Given the description of an element on the screen output the (x, y) to click on. 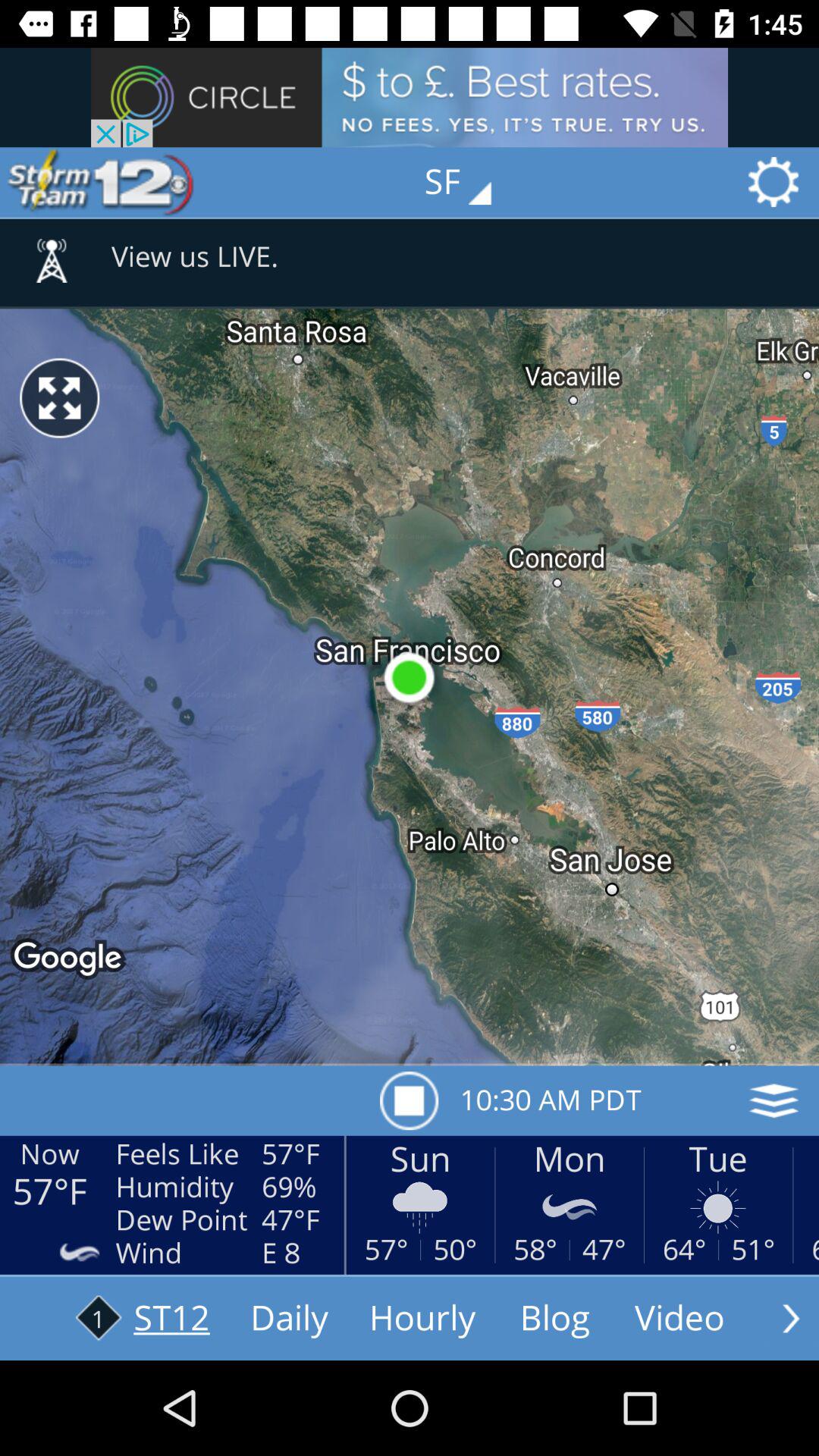
select the text which is right to the text hourly (555, 1318)
select the text which is to the first left of settings symbol (469, 181)
